Given the description of an element on the screen output the (x, y) to click on. 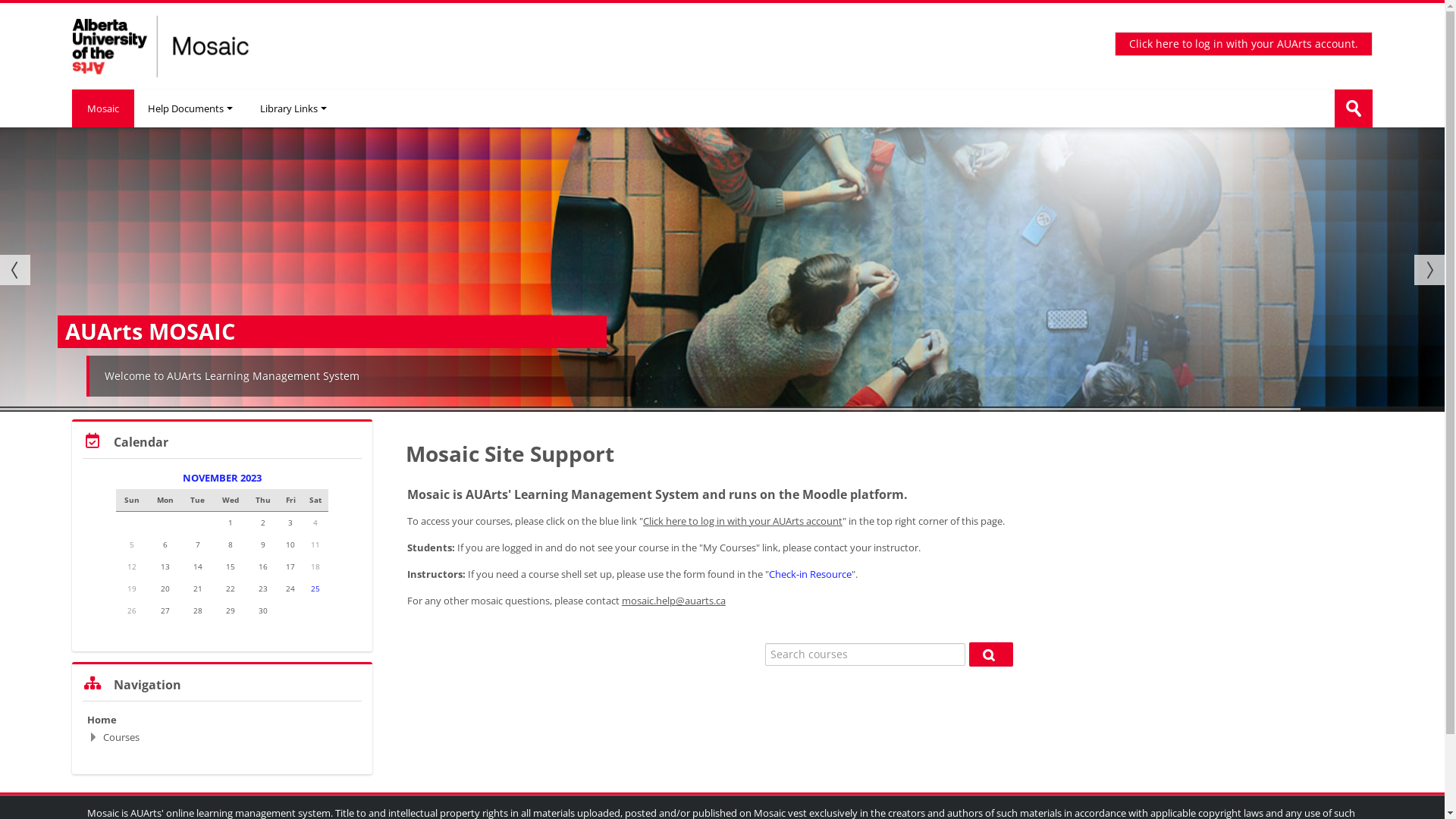
Home Element type: text (101, 719)
Courses Element type: text (121, 736)
Library Links Element type: text (293, 108)
Check-in Resource Element type: text (809, 573)
25 Element type: text (314, 588)
Skip Calendar Element type: text (71, 418)
NOVEMBER 2023 Element type: text (221, 477)
Mosaic Element type: text (103, 108)
Submit Element type: text (1353, 108)
Search courses Element type: text (991, 654)
Skip Navigation Element type: text (71, 661)
Click here to log in with your AUArts account. Element type: text (1243, 43)
Help Documents Element type: text (190, 108)
Home Element type: hover (168, 44)
